Given the description of an element on the screen output the (x, y) to click on. 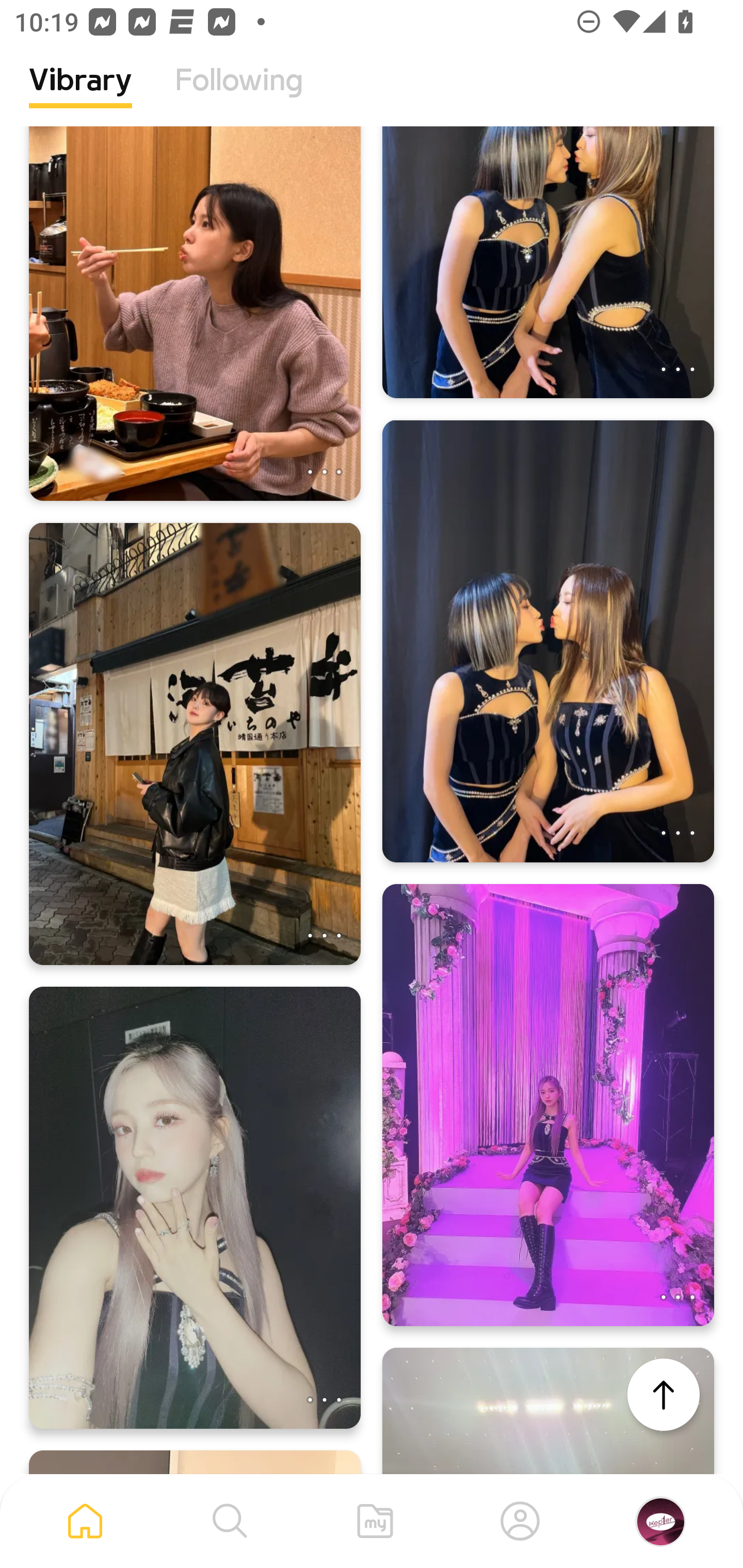
Vibrary (80, 95)
Following (239, 95)
